Given the description of an element on the screen output the (x, y) to click on. 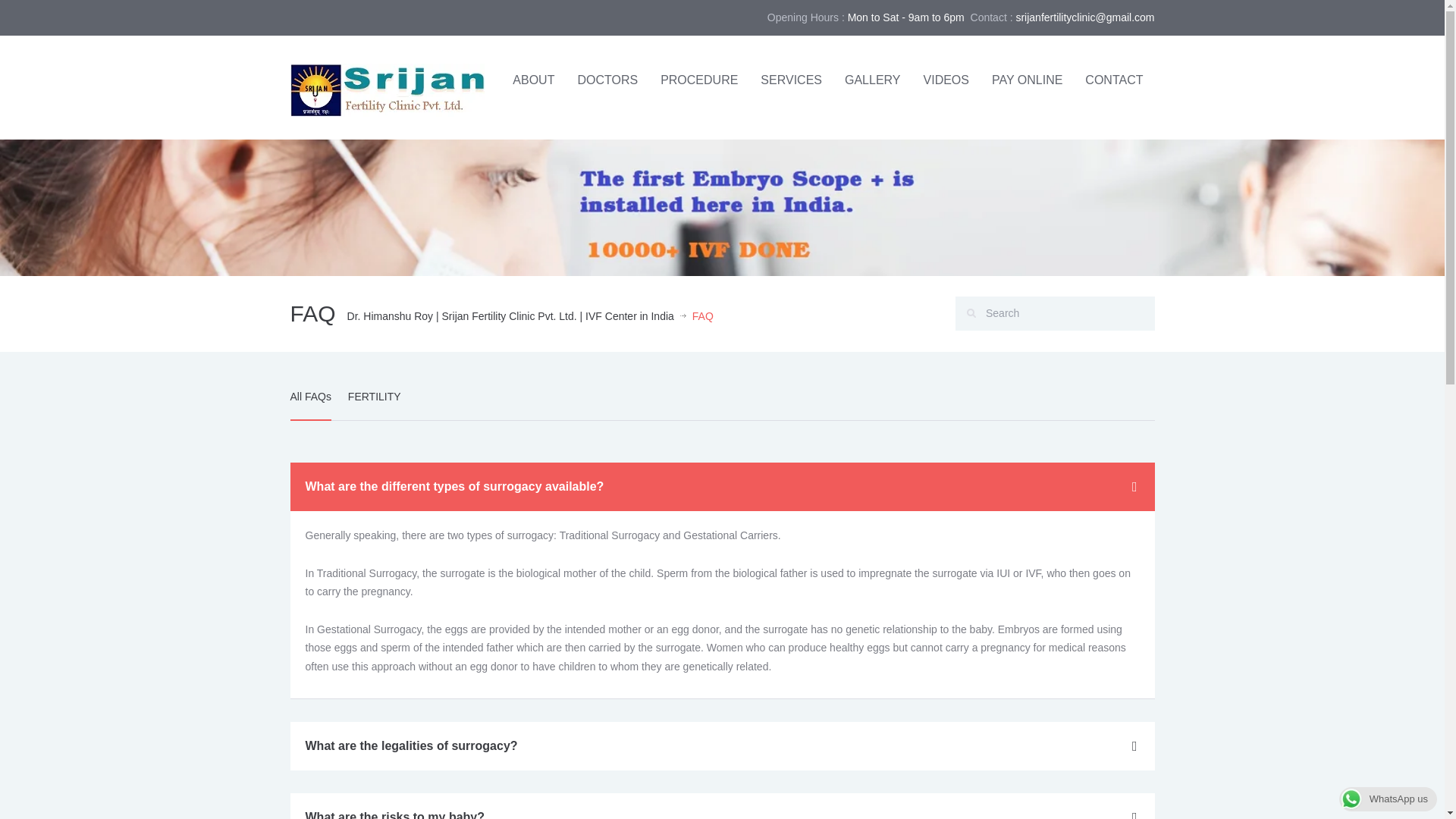
CONTACT (1114, 80)
PAY ONLINE (1026, 80)
PROCEDURE (699, 80)
VIDEOS (945, 80)
ABOUT (533, 80)
ONLINE PAYMENT LINK (1026, 80)
DOCTORS (607, 80)
GALLERY (872, 80)
SERVICES (790, 80)
All FAQs (309, 404)
FERTILITY (374, 404)
